Given the description of an element on the screen output the (x, y) to click on. 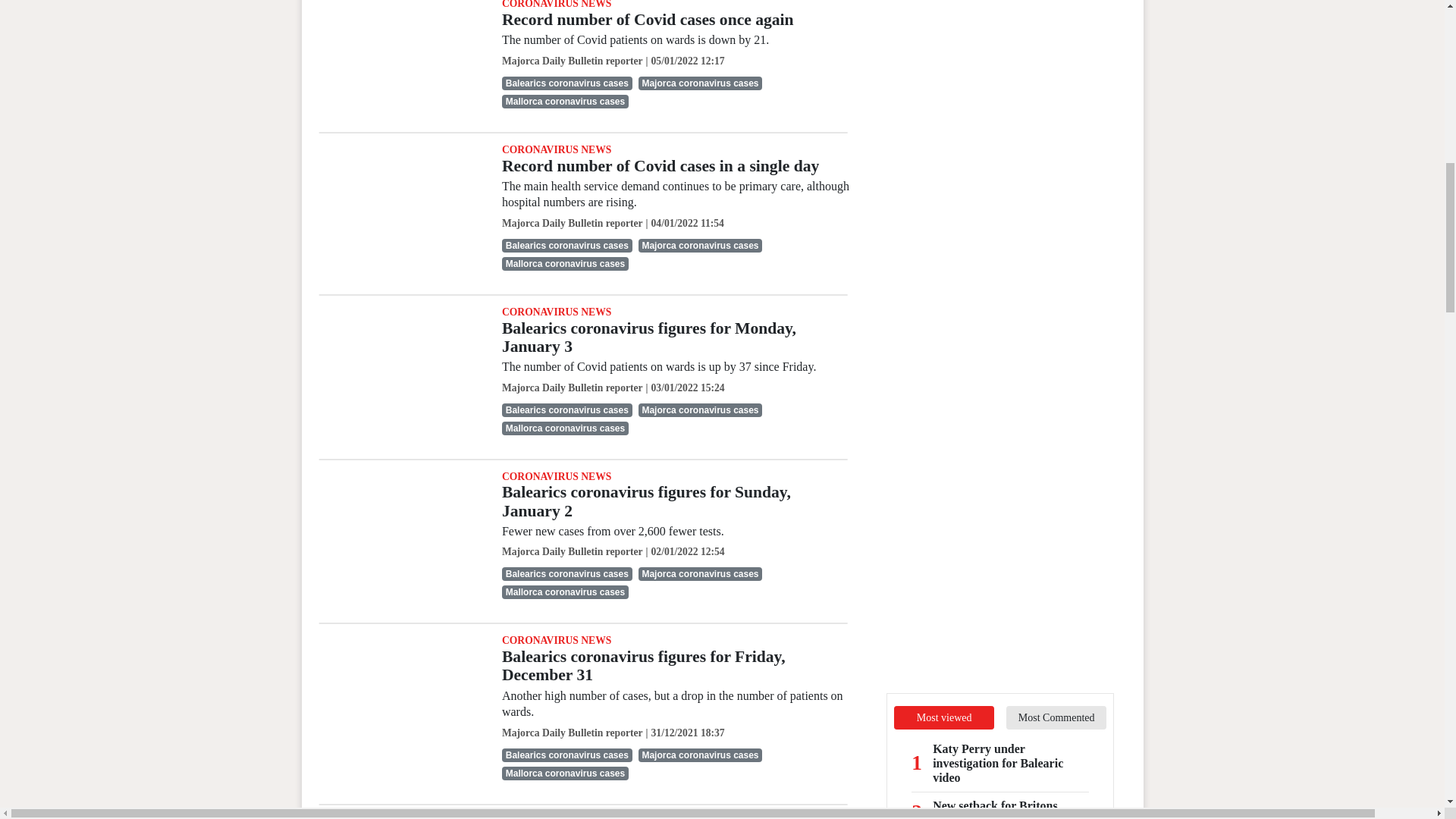
Balearics coronavirus figures for Sunday, January 2 (400, 526)
Record number of Covid cases in a single day (400, 199)
Balearics coronavirus figures for Monday, January 3 (649, 337)
Record number of Covid cases in a single day (660, 166)
Balearics coronavirus figures for Monday, January 3 (400, 361)
Balearics coronavirus figures for Friday, December 31 (400, 689)
Record number of Covid cases once again (647, 19)
